Given the description of an element on the screen output the (x, y) to click on. 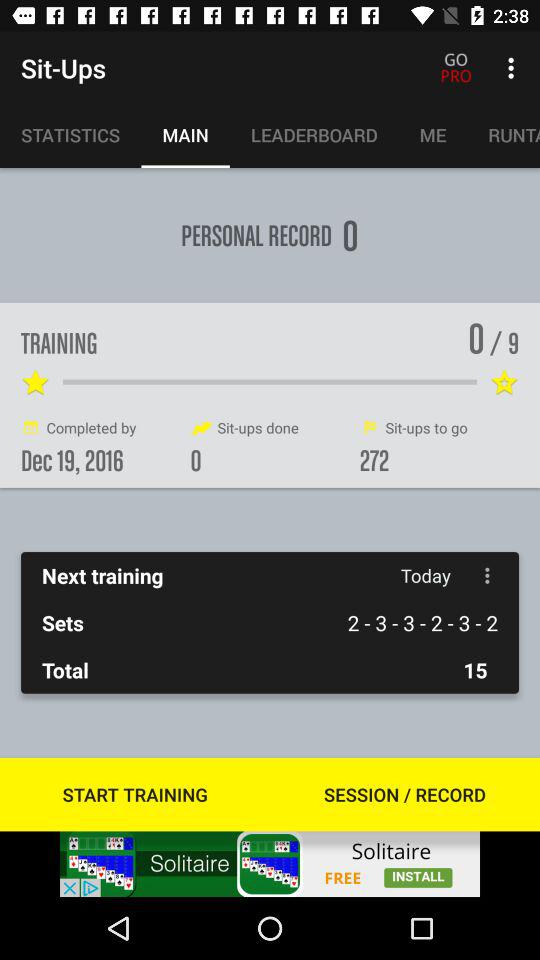
visit sponsor advertisement (270, 864)
